Given the description of an element on the screen output the (x, y) to click on. 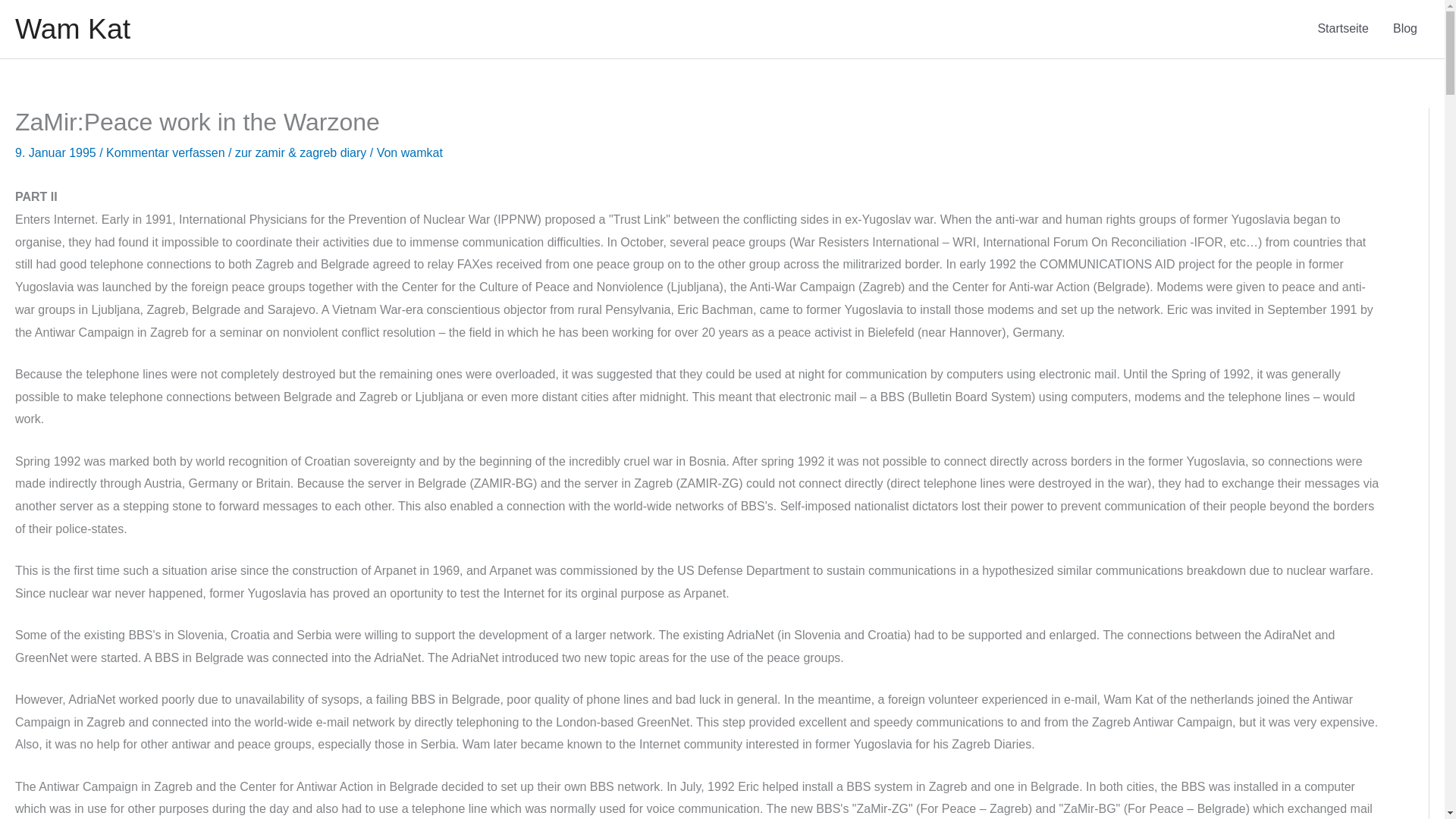
Startseite (1342, 28)
wamkat (421, 152)
Blog (1404, 28)
Wam Kat (72, 29)
Kommentar verfassen (165, 152)
